Given the description of an element on the screen output the (x, y) to click on. 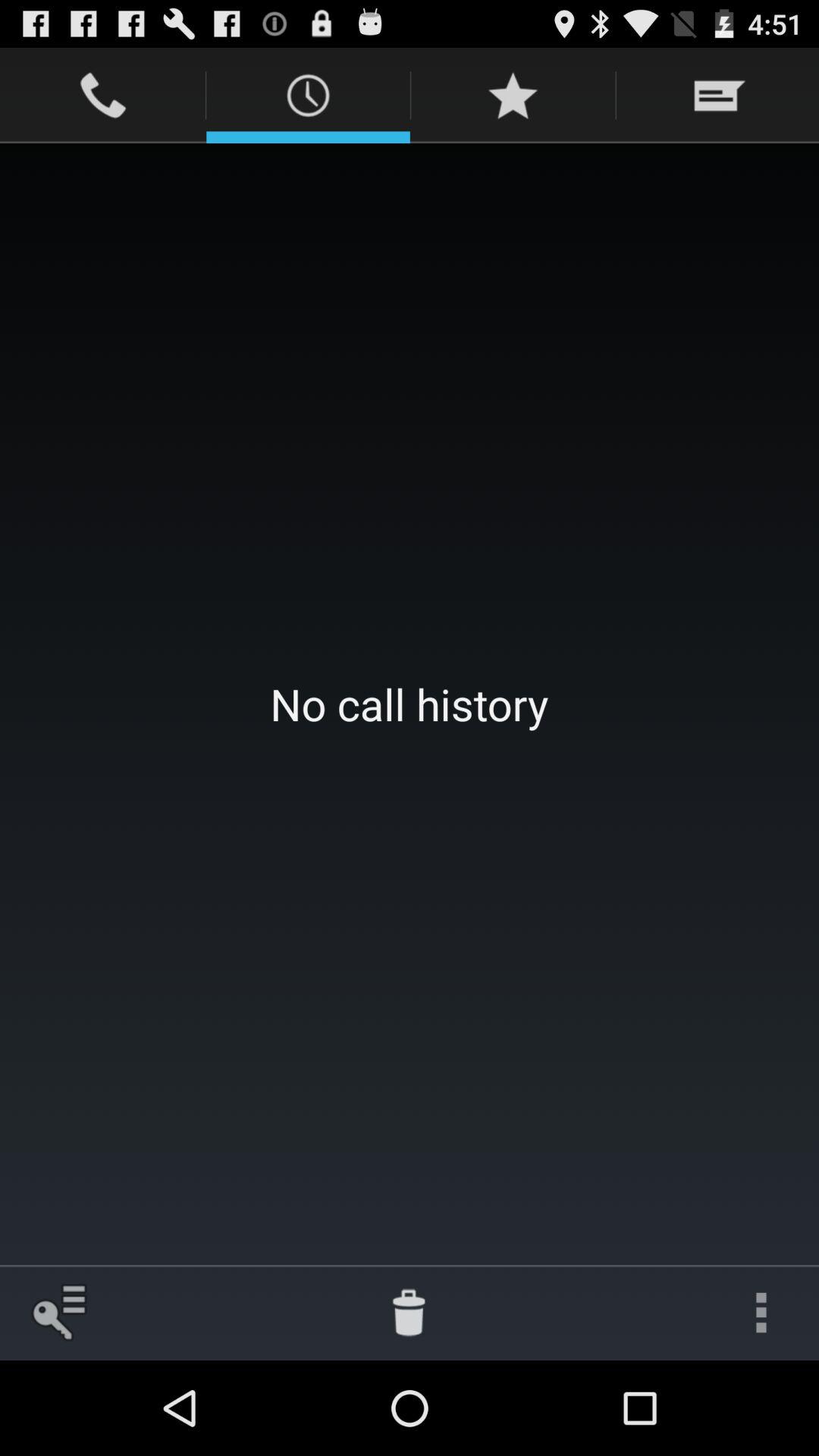
turn off icon at the bottom left corner (58, 1312)
